Given the description of an element on the screen output the (x, y) to click on. 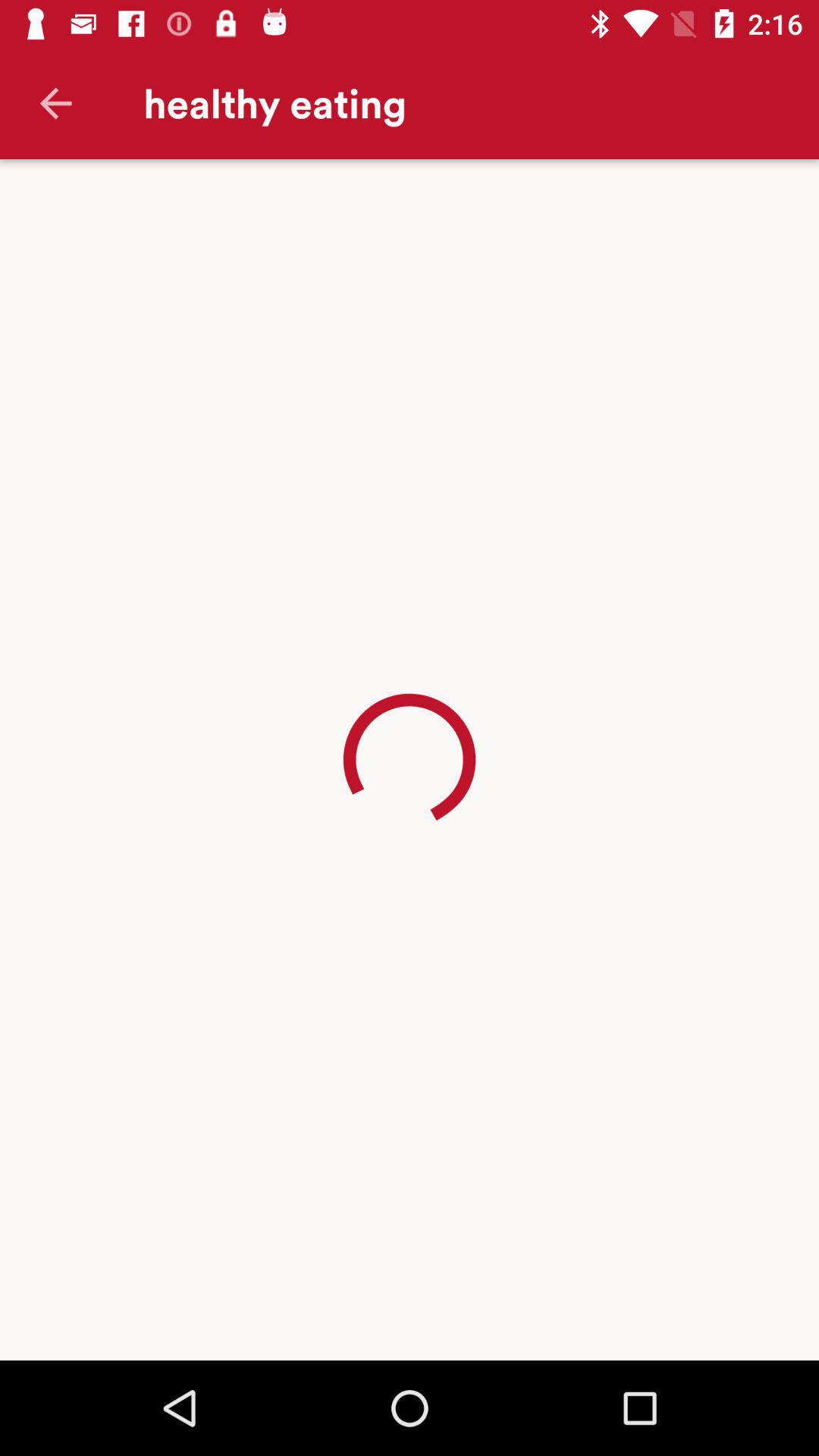
launch icon at the top left corner (55, 103)
